Given the description of an element on the screen output the (x, y) to click on. 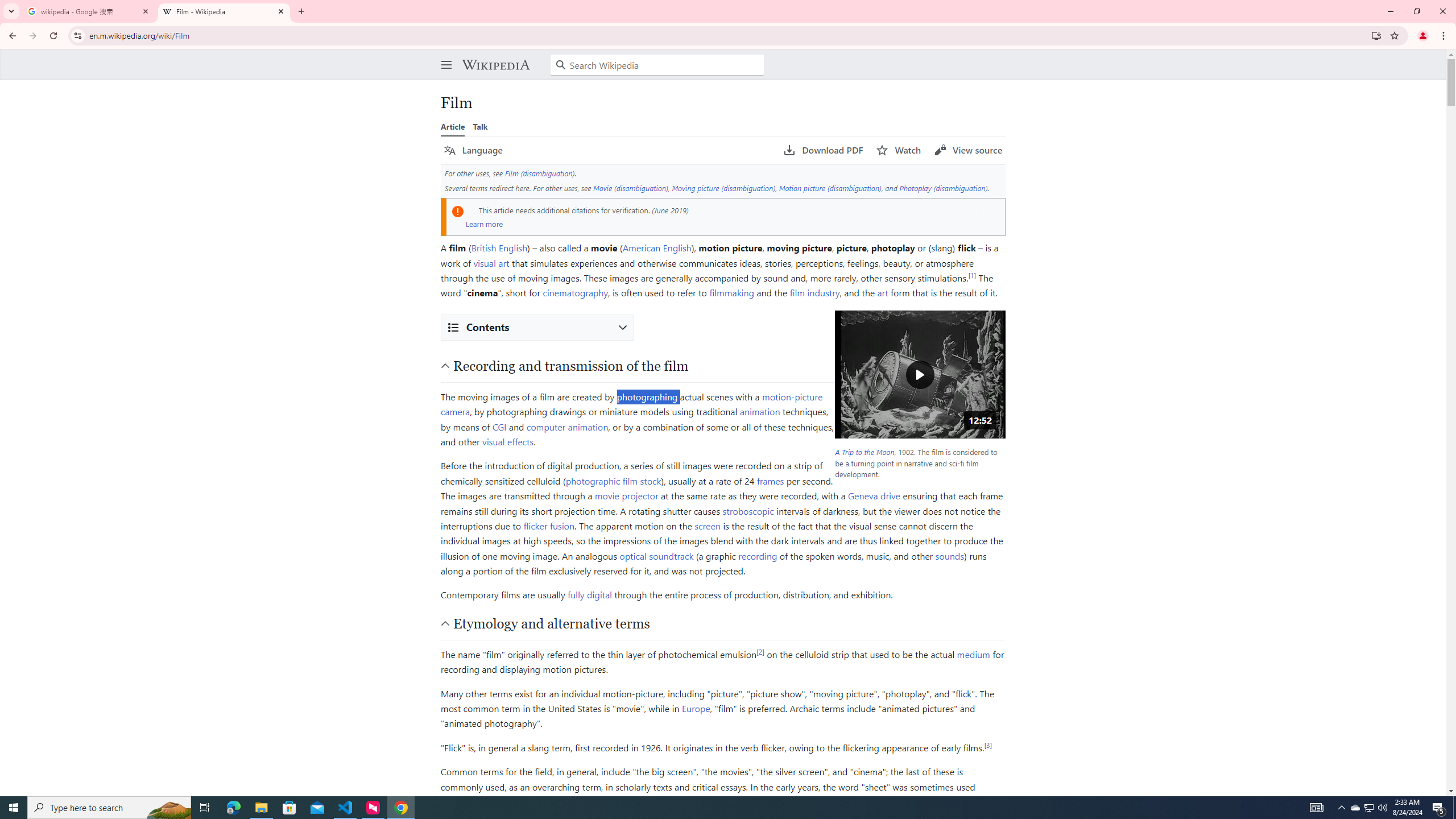
Photoplay (disambiguation) (943, 188)
film industry (814, 292)
Movie (disambiguation) (630, 188)
AutomationID: minerva-download (823, 150)
American English (656, 247)
computer animation (566, 426)
Moving picture (disambiguation) (723, 188)
stock (650, 480)
sounds (948, 555)
Europe (695, 708)
Article (452, 126)
